Given the description of an element on the screen output the (x, y) to click on. 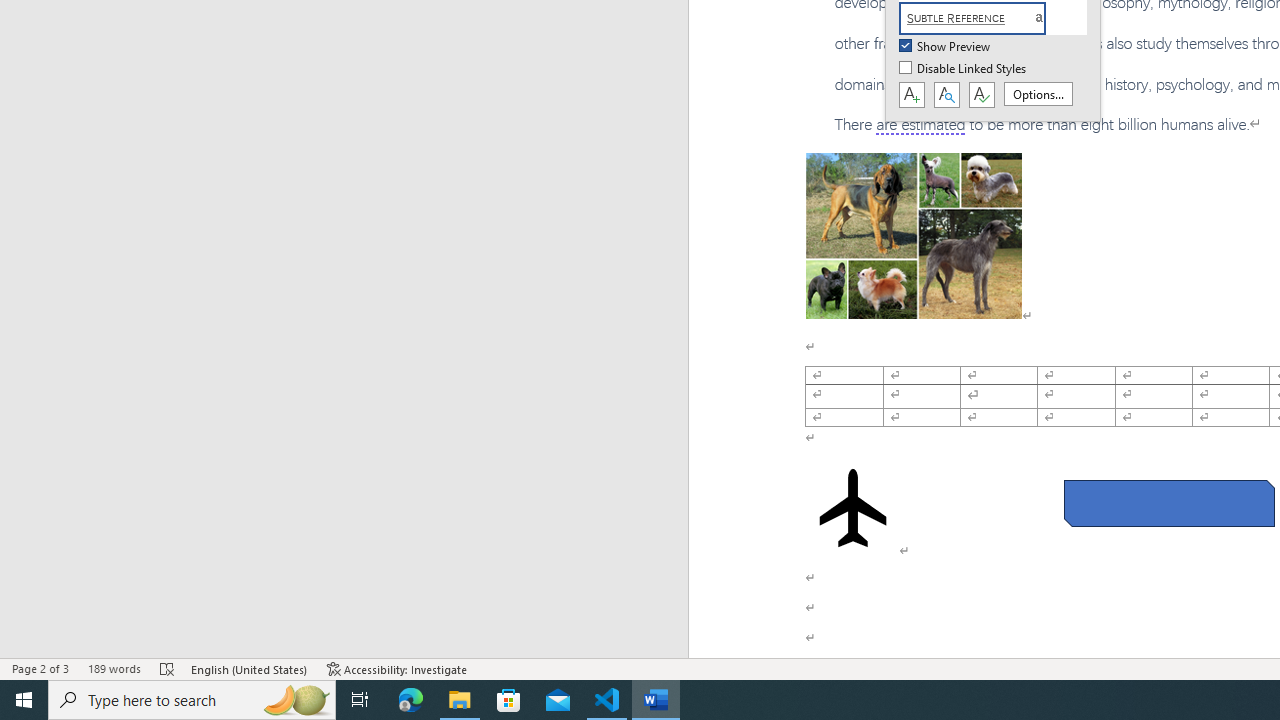
Page Number Page 2 of 3 (39, 668)
Show Preview (946, 47)
Disable Linked Styles (964, 69)
Class: NetUIButton (981, 95)
Options... (1037, 93)
